Given the description of an element on the screen output the (x, y) to click on. 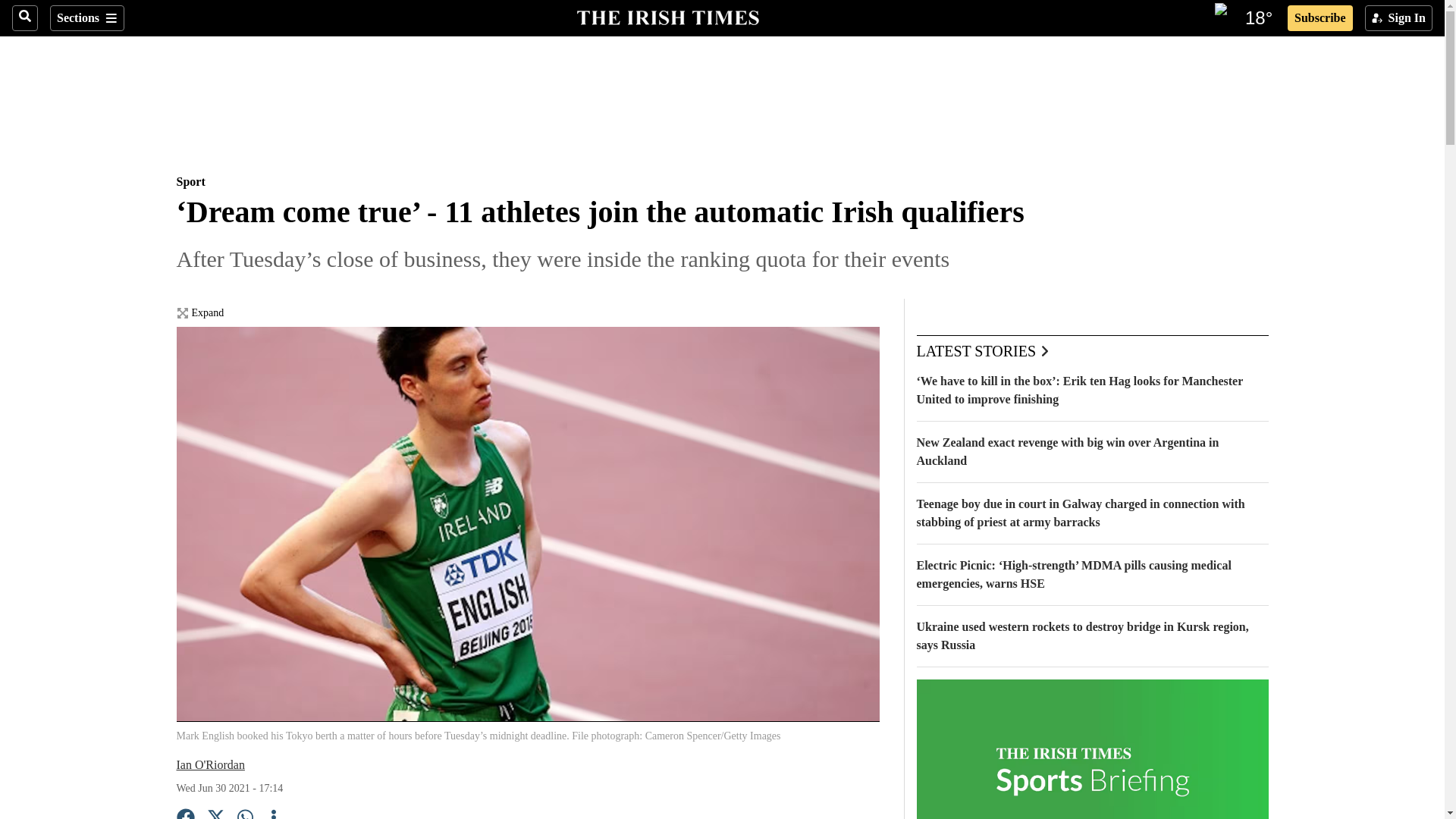
Subscribe (1319, 17)
Sign In (1398, 17)
The Irish Times (667, 16)
Sections (86, 17)
Facebook (184, 813)
WhatsApp (244, 813)
X (215, 813)
